Given the description of an element on the screen output the (x, y) to click on. 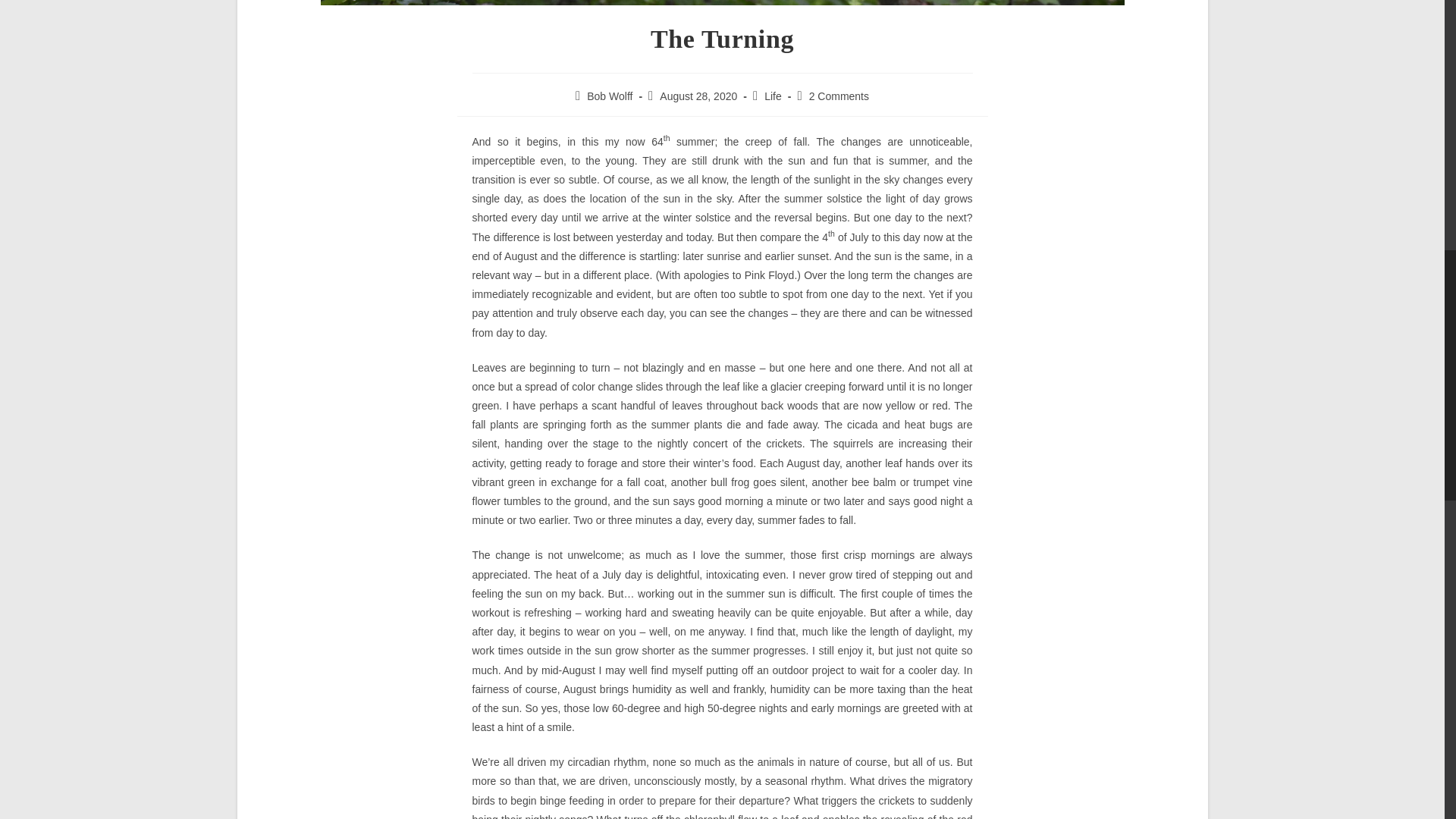
Bob Wolff (608, 96)
Life (772, 96)
2 Comments (839, 96)
Posts by Bob Wolff (608, 96)
